Given the description of an element on the screen output the (x, y) to click on. 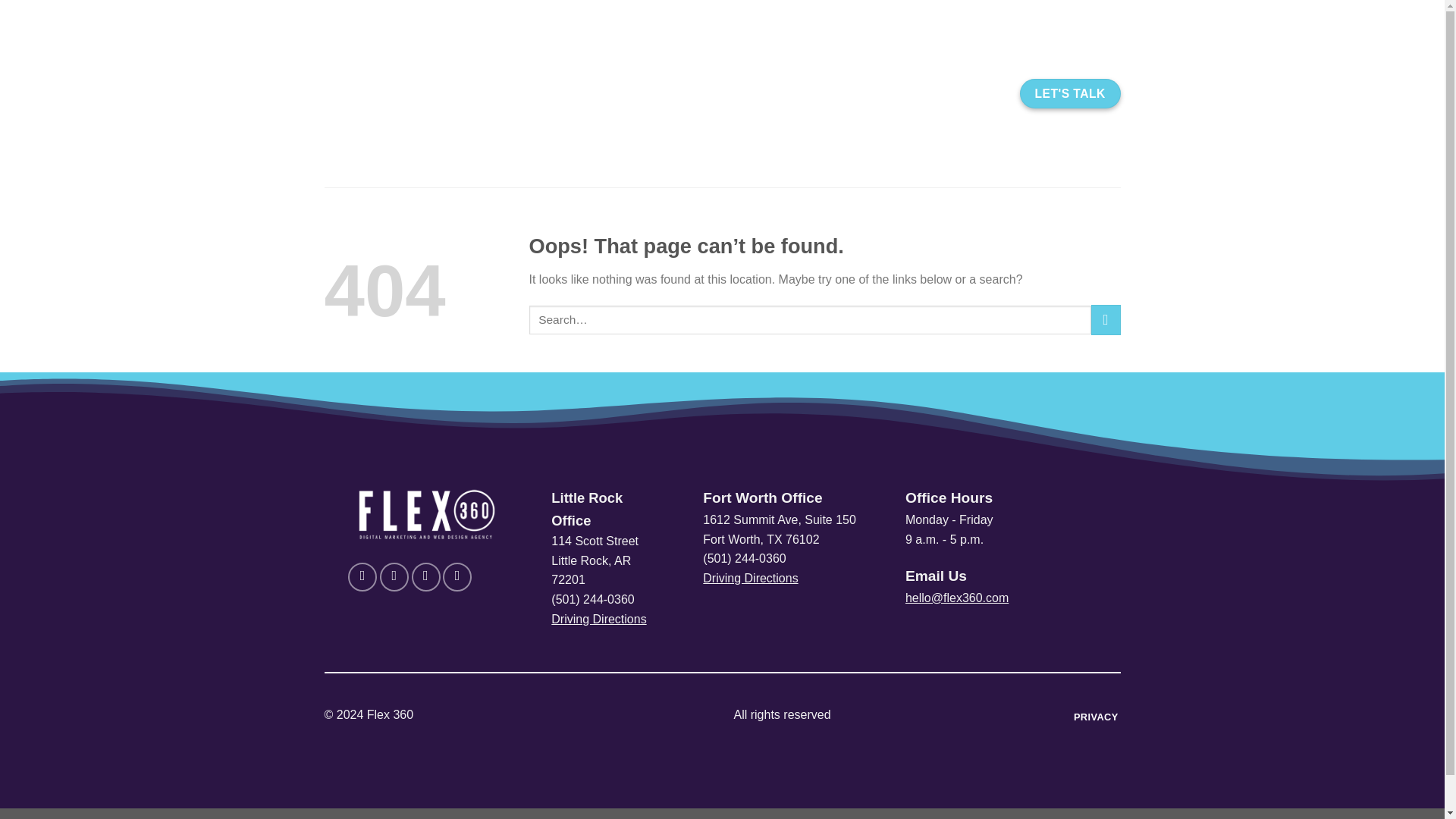
PRIVACY (1095, 717)
Follow on Facebook (362, 576)
LET'S TALK (1070, 93)
Follow on Instagram (394, 576)
Follow on LinkedIn (456, 576)
OUR TEAM (963, 93)
SERVICES (739, 93)
ABOUT (657, 93)
FLEX 360 (451, 93)
OUR PARTNERS (852, 93)
Follow on TikTok (426, 576)
